Given the description of an element on the screen output the (x, y) to click on. 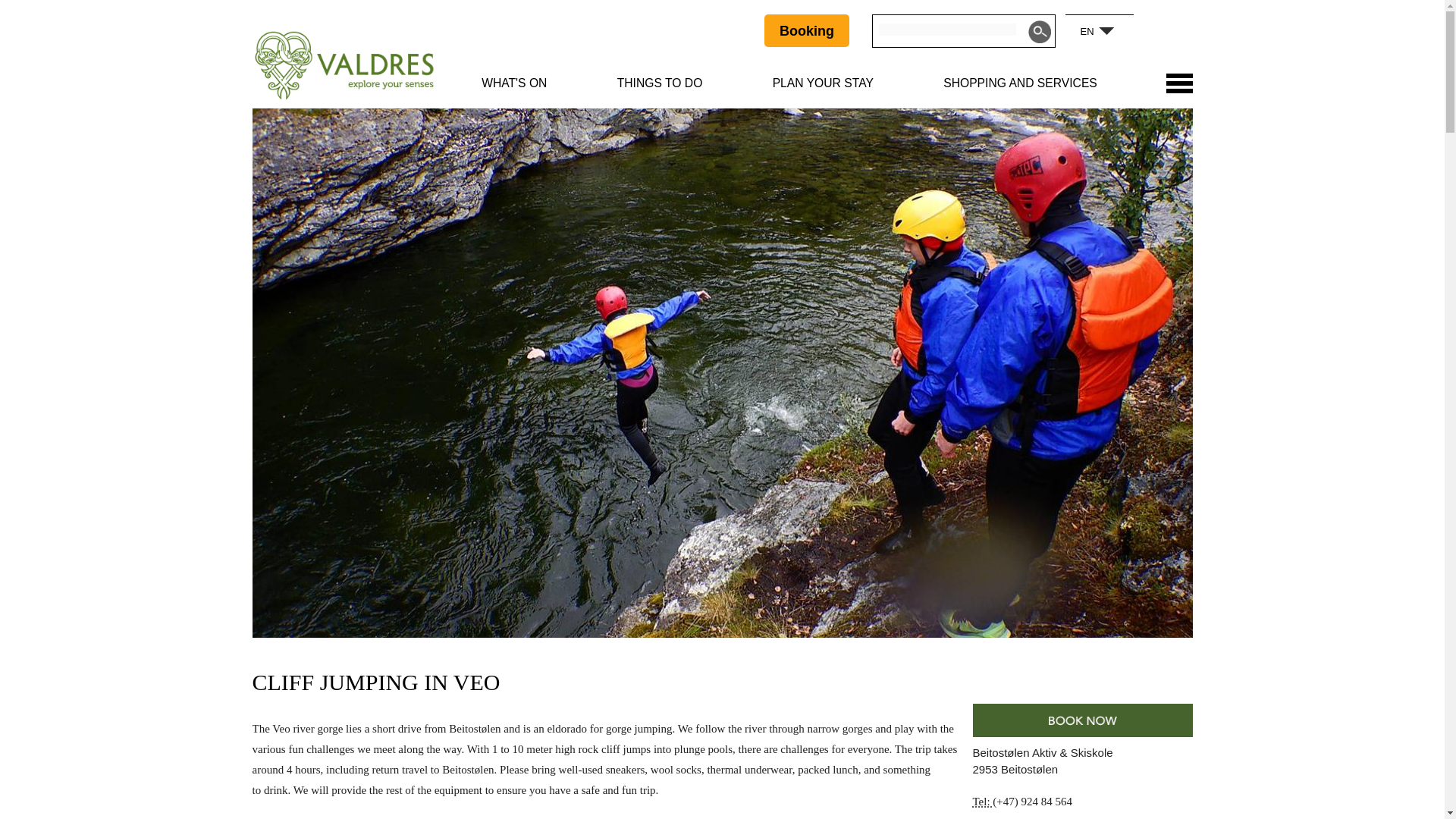
Search: (1039, 31)
submit (1039, 31)
THINGS TO DO (660, 82)
Valdres - Explore Your Senses (344, 65)
PLAN YOUR STAY (823, 82)
EN (1078, 31)
WHAT'S ON (514, 82)
What are you searching for? (947, 29)
Booking (806, 30)
